Given the description of an element on the screen output the (x, y) to click on. 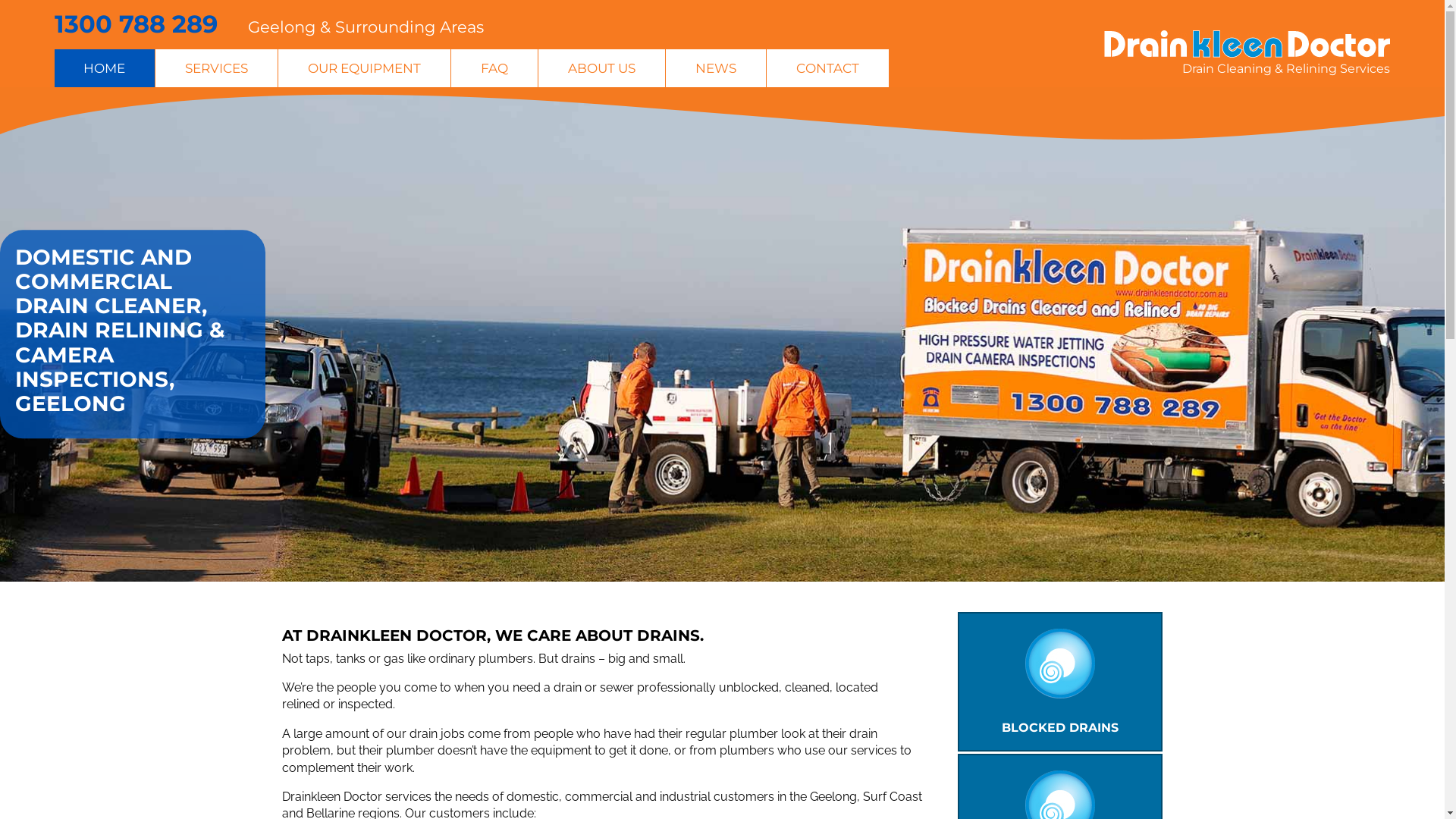
BLOCKED DRAINS Element type: text (1059, 681)
CONTACT Element type: text (827, 68)
OUR EQUIPMENT Element type: text (364, 68)
HOME Element type: text (104, 68)
NEWS Element type: text (715, 68)
FAQ Element type: text (494, 68)
ABOUT US Element type: text (601, 68)
SERVICES Element type: text (216, 68)
